Given the description of an element on the screen output the (x, y) to click on. 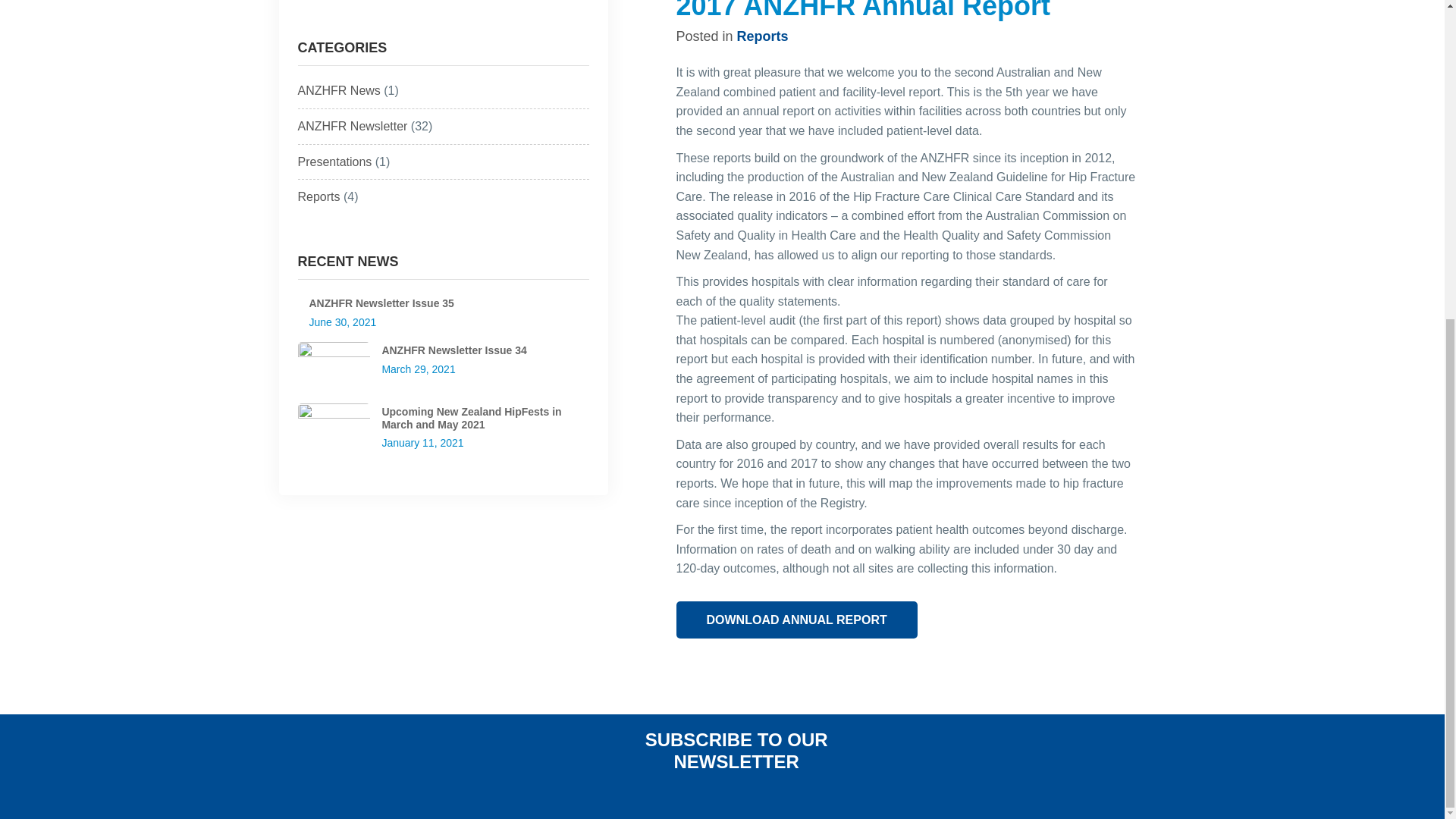
Upcoming New Zealand HipFests in March and May 2021 (470, 417)
ANZHFR Newsletter Issue 34 (333, 365)
Upcoming New Zealand HipFests in March and May 2021 (333, 427)
ANZHFR Newsletter Issue 34 (453, 349)
ANZHFR Newsletter Issue 35 (381, 303)
